Given the description of an element on the screen output the (x, y) to click on. 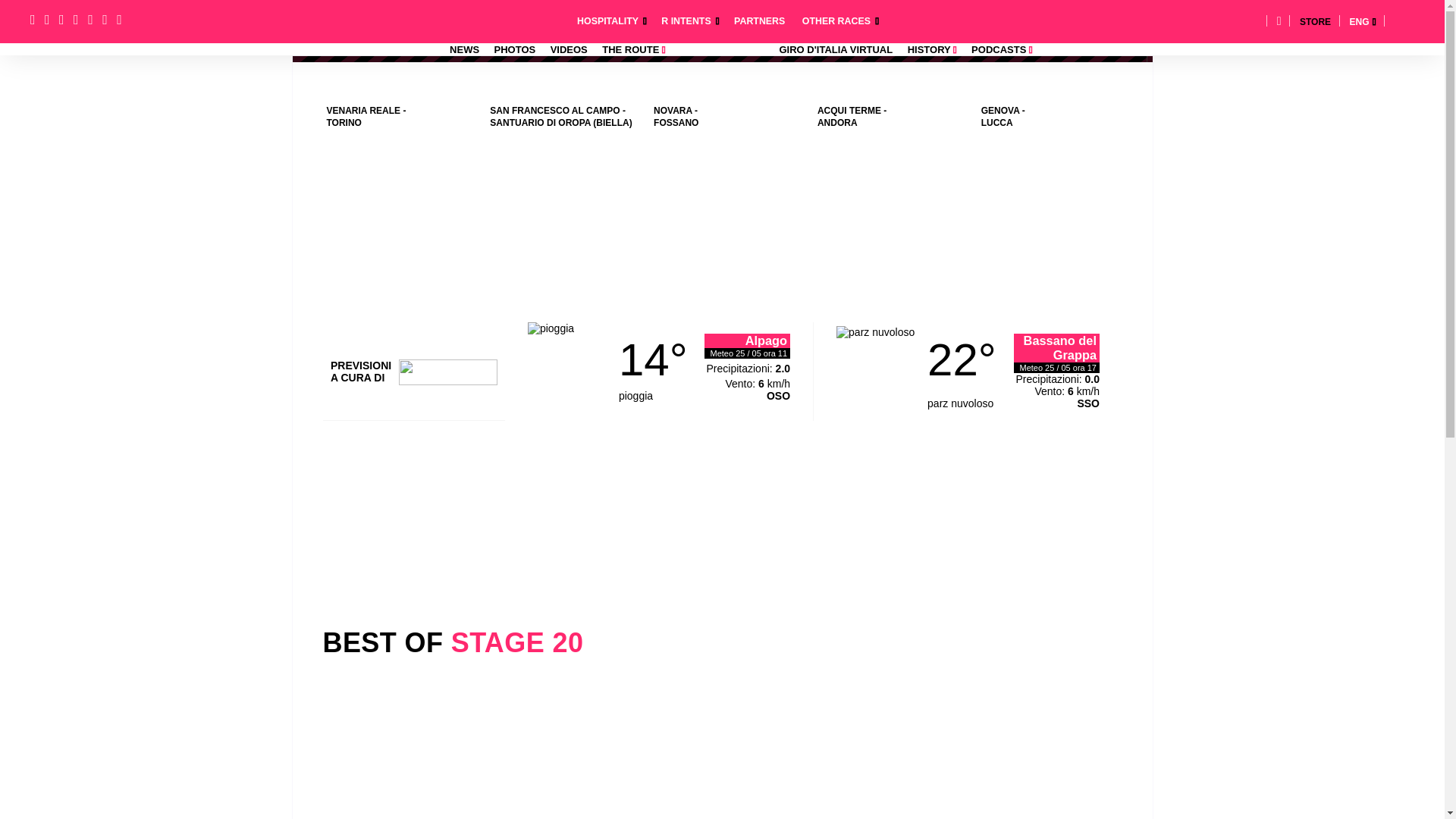
PHOTOS (509, 49)
VIDEOS (563, 49)
NEWS (464, 49)
PARTNERS (754, 16)
OTHER RACES (833, 16)
STORE (1315, 21)
R INTENTS (682, 16)
HOSPITALITY (604, 16)
ENG (1359, 21)
